Given the description of an element on the screen output the (x, y) to click on. 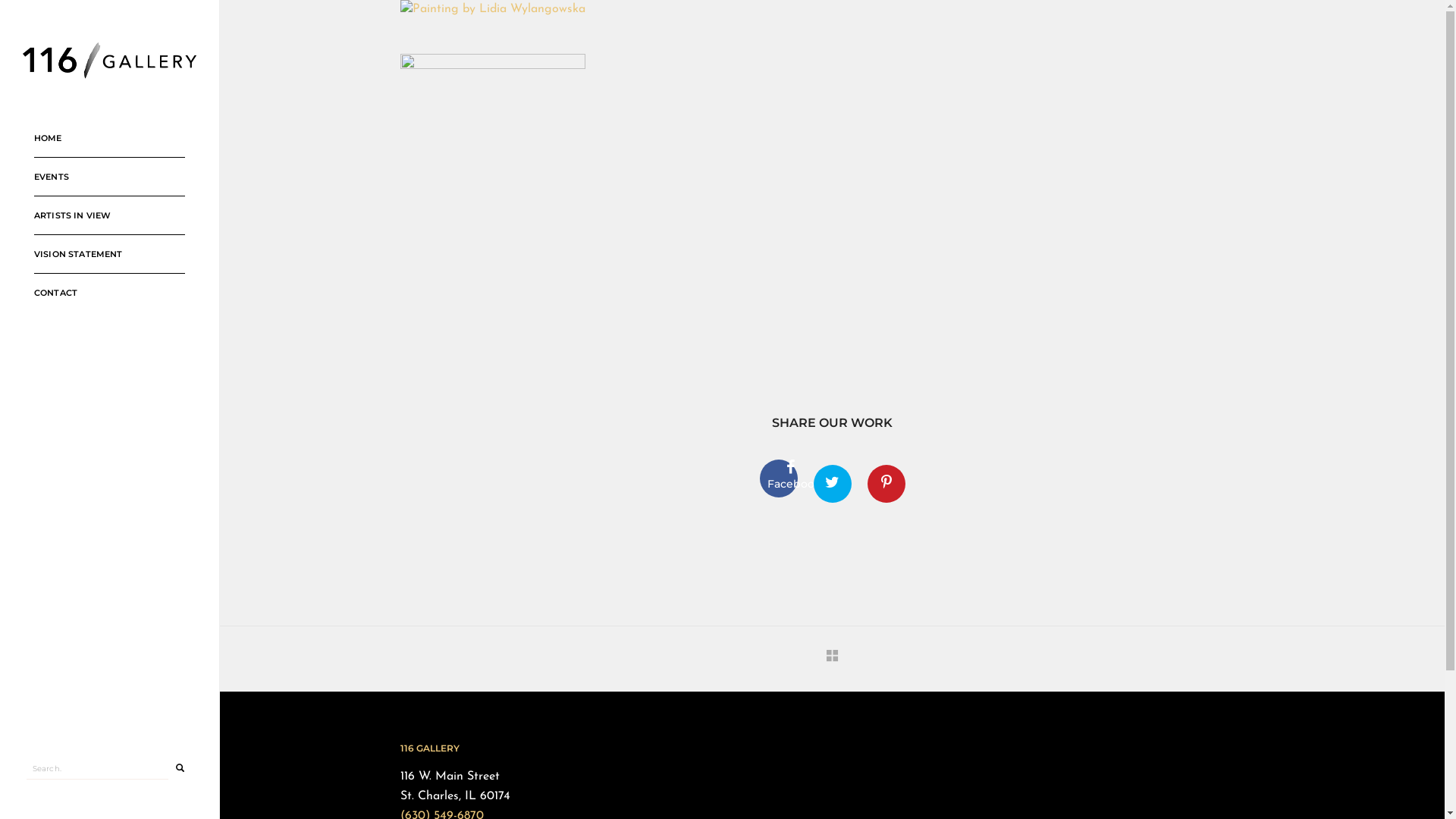
116 Gallery Element type: hover (109, 59)
test Element type: hover (778, 478)
VISION STATEMENT Element type: text (109, 254)
ARTISTS IN VIEW Element type: text (109, 215)
test Element type: hover (886, 483)
CONTACT Element type: text (109, 292)
EVENTS Element type: text (109, 176)
test Element type: hover (831, 483)
HOME Element type: text (109, 138)
